Given the description of an element on the screen output the (x, y) to click on. 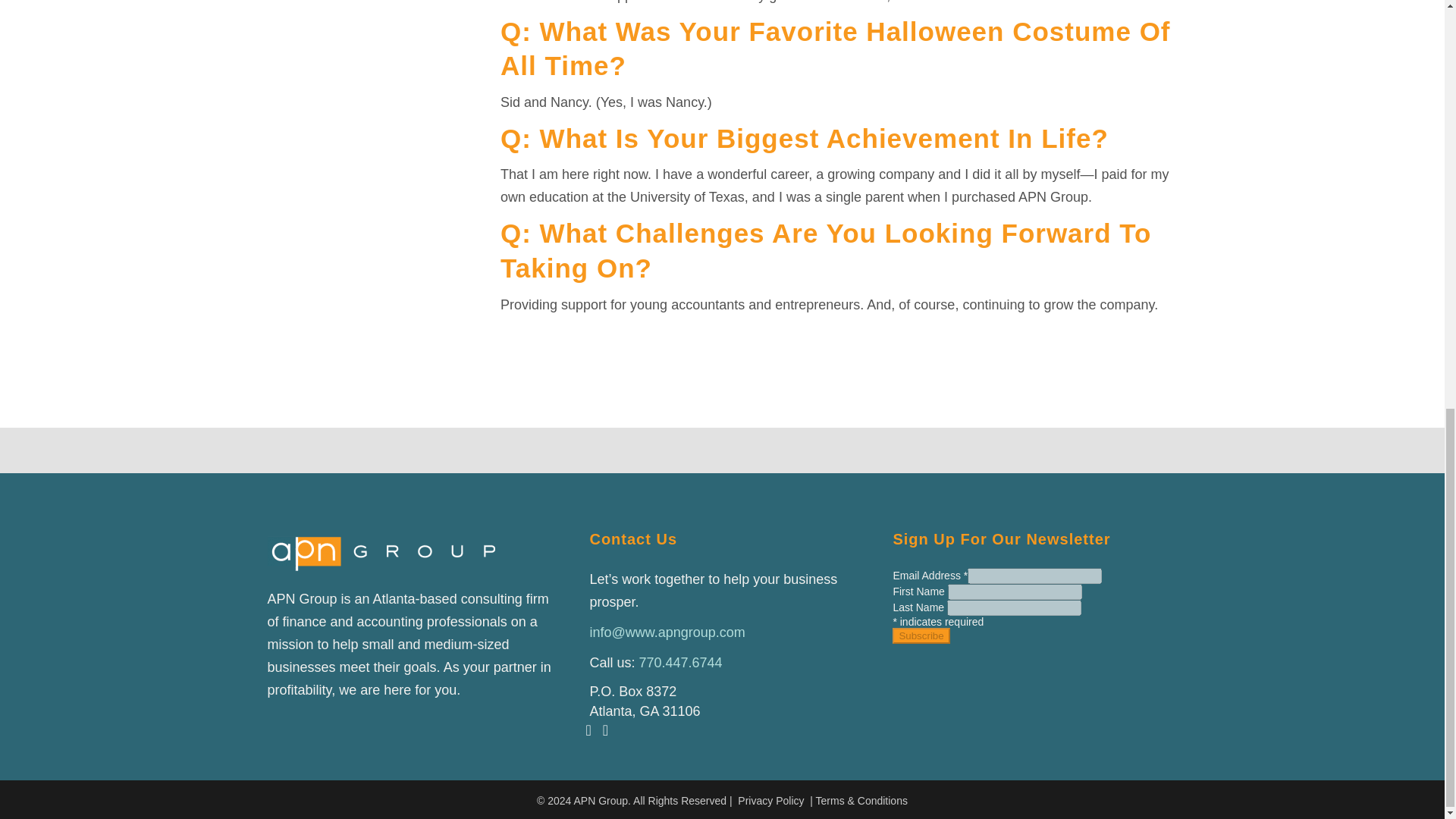
Subscribe (920, 635)
